Given the description of an element on the screen output the (x, y) to click on. 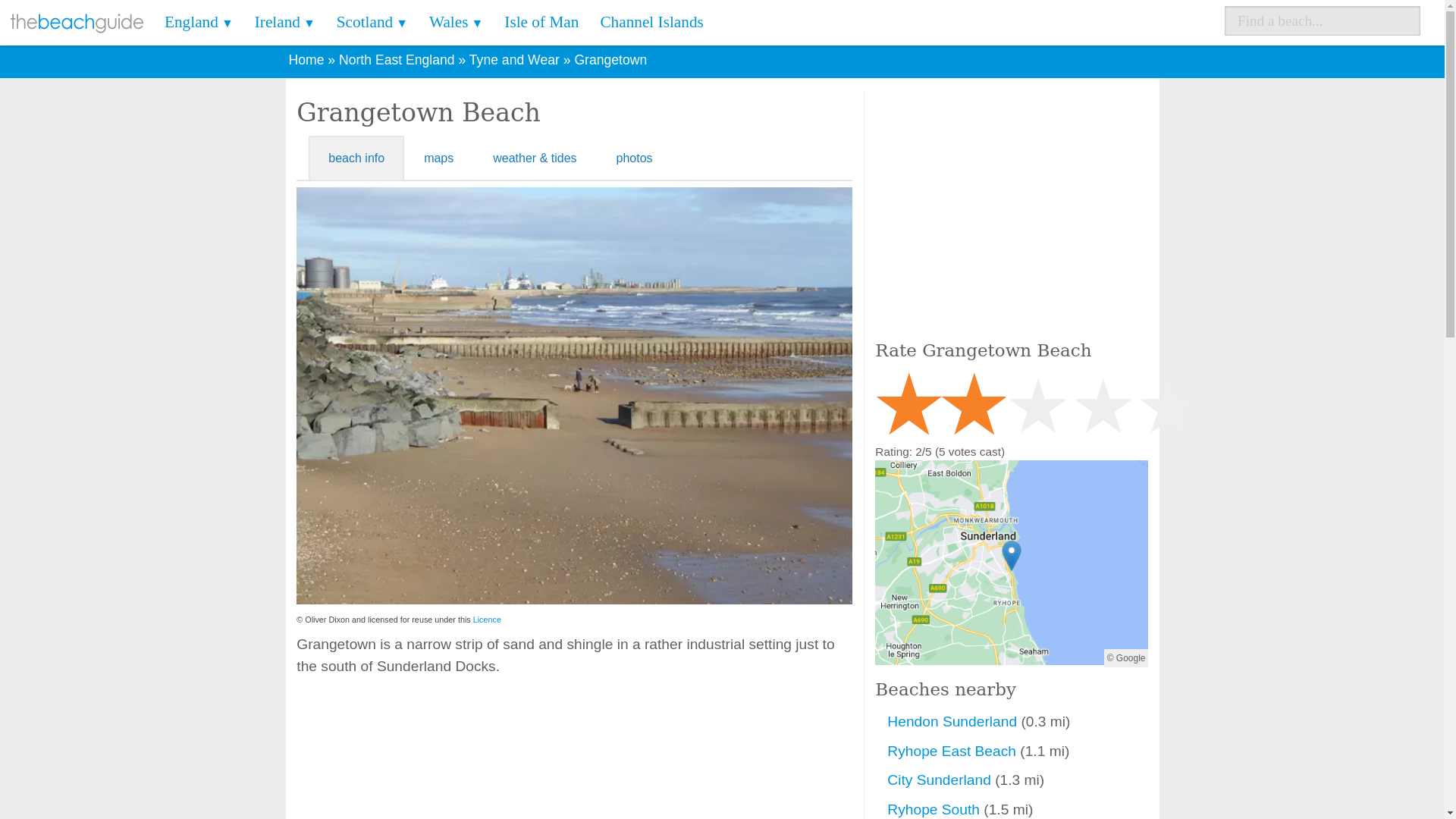
Channel Islands (651, 22)
Licence (486, 619)
Ryhope South (935, 809)
Grangetown Beach beach photos (634, 157)
maps (438, 157)
photos (634, 157)
Tyne and Wear (513, 59)
Grangetown Beach beach maps (438, 157)
Grangetown Beach weather reports (534, 157)
Isle of Man (541, 22)
Home (305, 59)
North East England (396, 59)
Hendon Sunderland (951, 721)
beach info (356, 157)
Ryhope East Beach (953, 750)
